Given the description of an element on the screen output the (x, y) to click on. 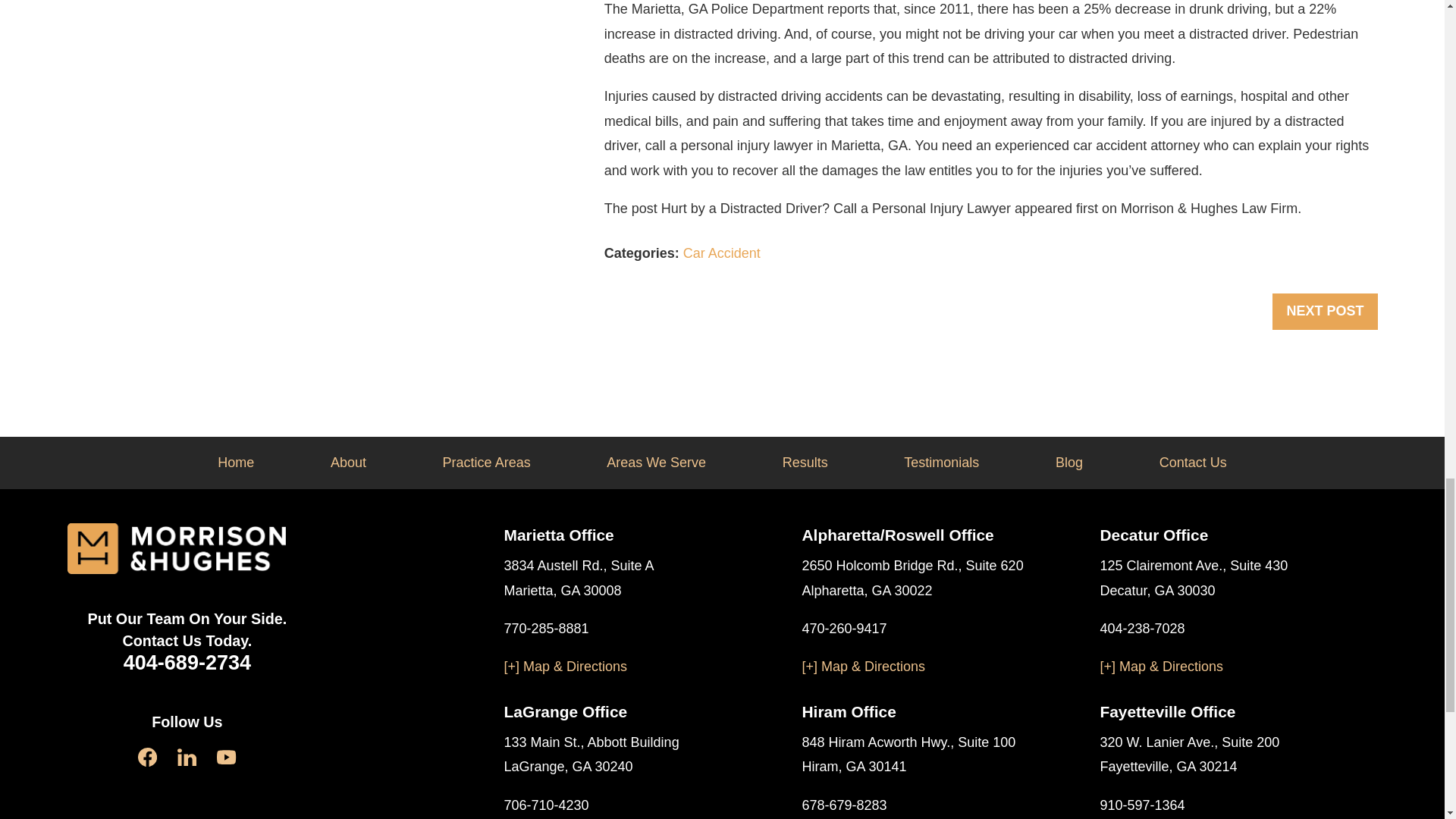
LinkedIn (186, 756)
Facebook (147, 756)
YouTube (225, 756)
Home (175, 548)
